Given the description of an element on the screen output the (x, y) to click on. 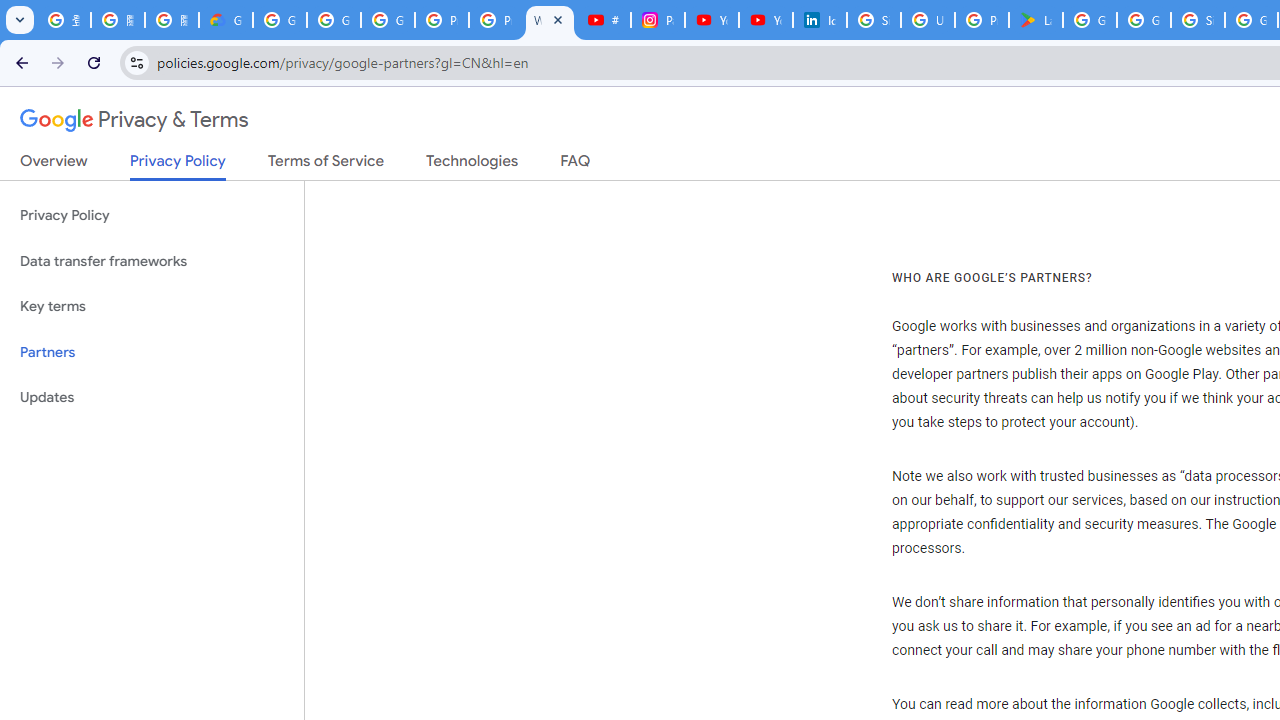
Last Shelter: Survival - Apps on Google Play (1035, 20)
Google Workspace - Specific Terms (1144, 20)
Privacy Help Center - Policies Help (495, 20)
